Given the description of an element on the screen output the (x, y) to click on. 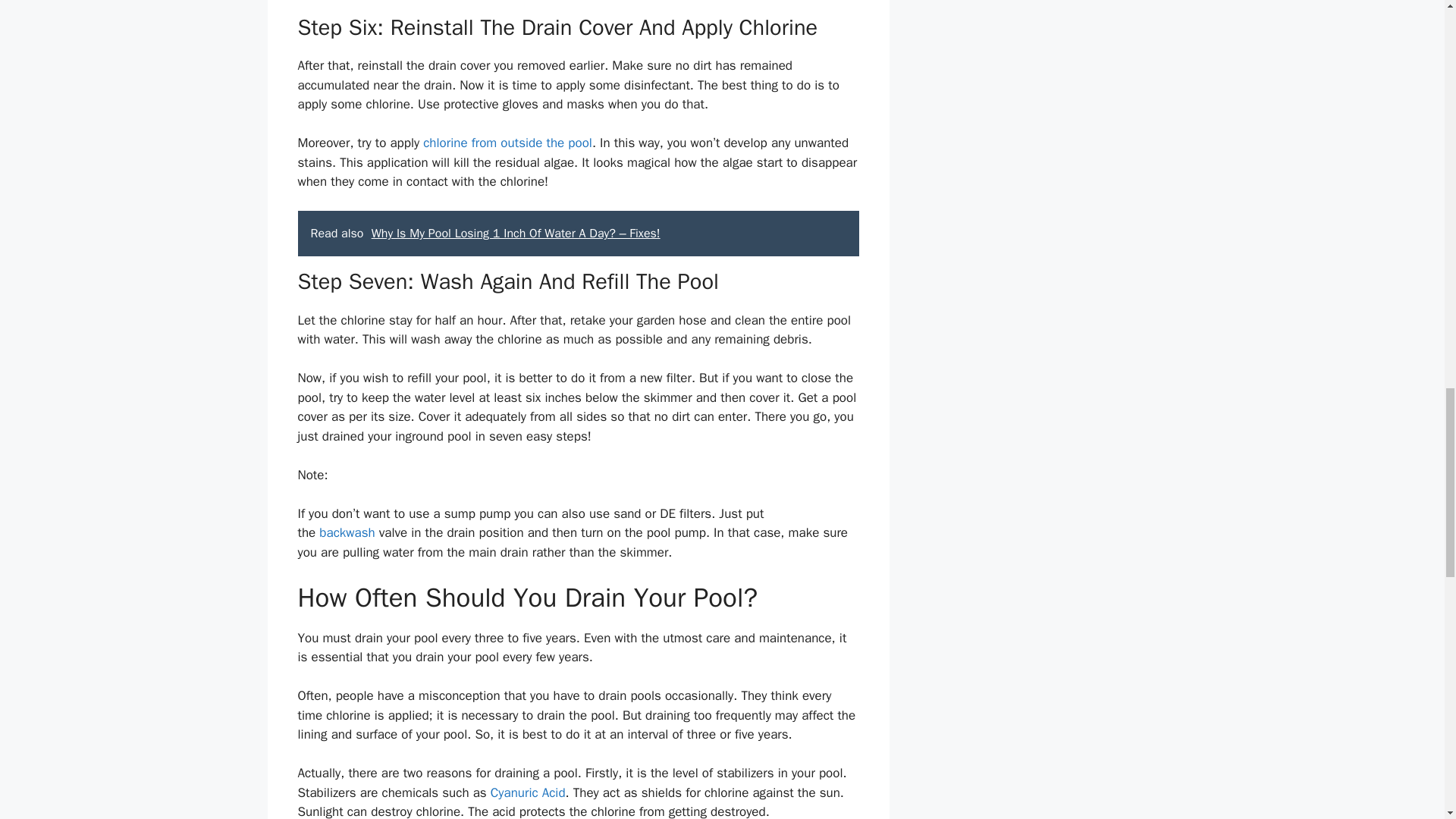
Cyanuric Acid (528, 792)
backwash (346, 532)
chlorine from outside the pool (507, 142)
